Given the description of an element on the screen output the (x, y) to click on. 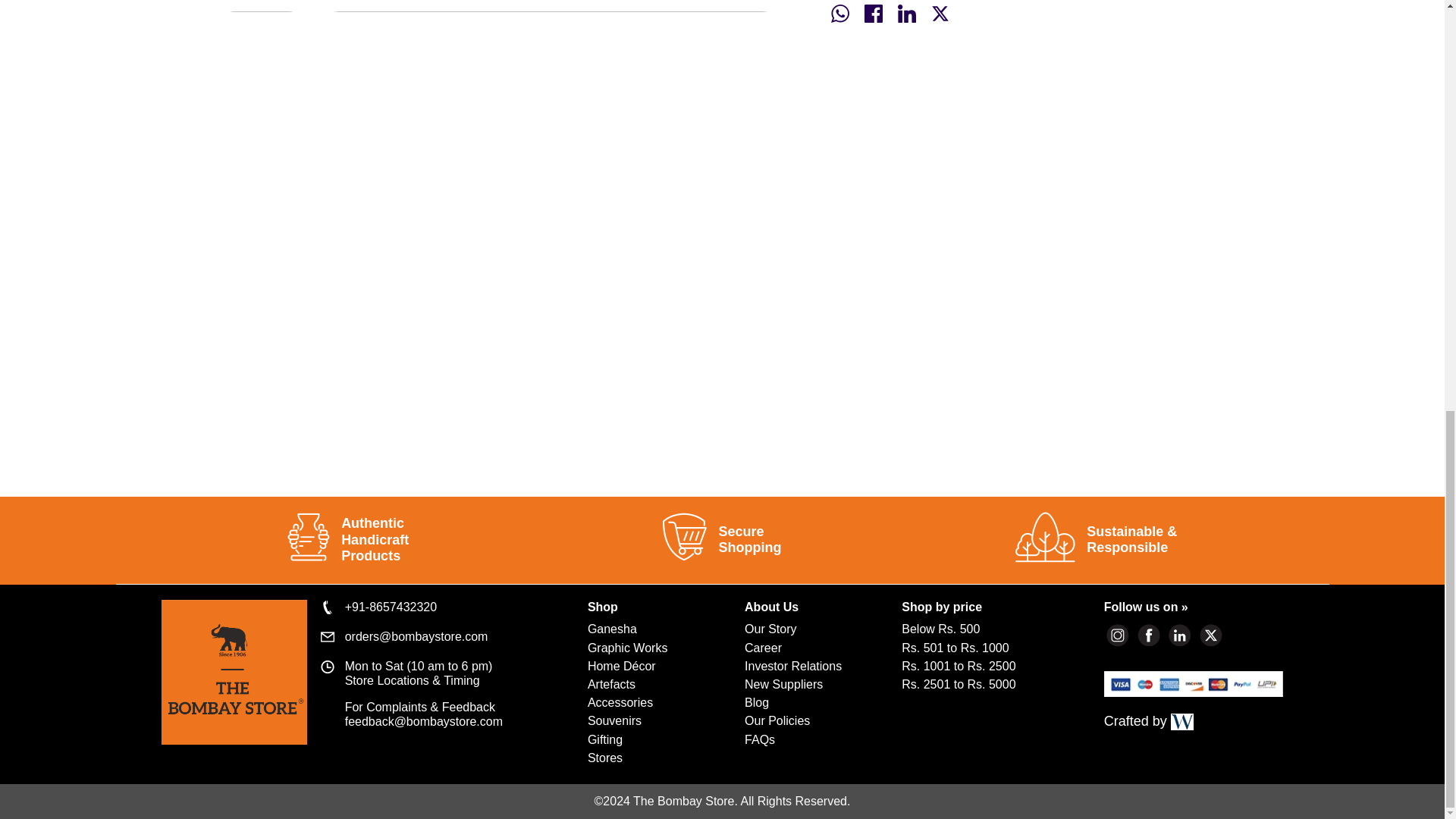
Water Communications (1181, 721)
